Given the description of an element on the screen output the (x, y) to click on. 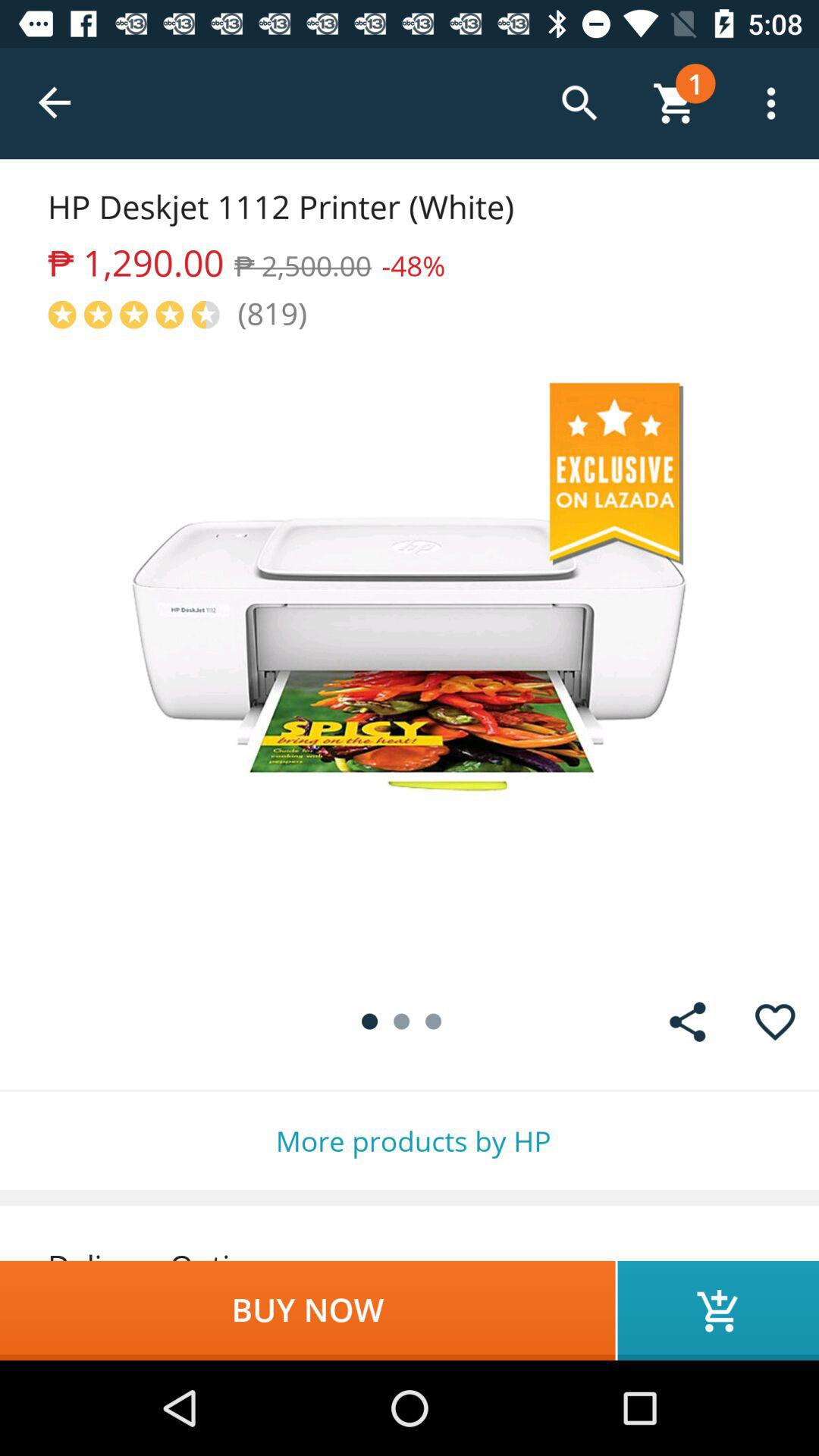
share product (687, 1021)
